Given the description of an element on the screen output the (x, y) to click on. 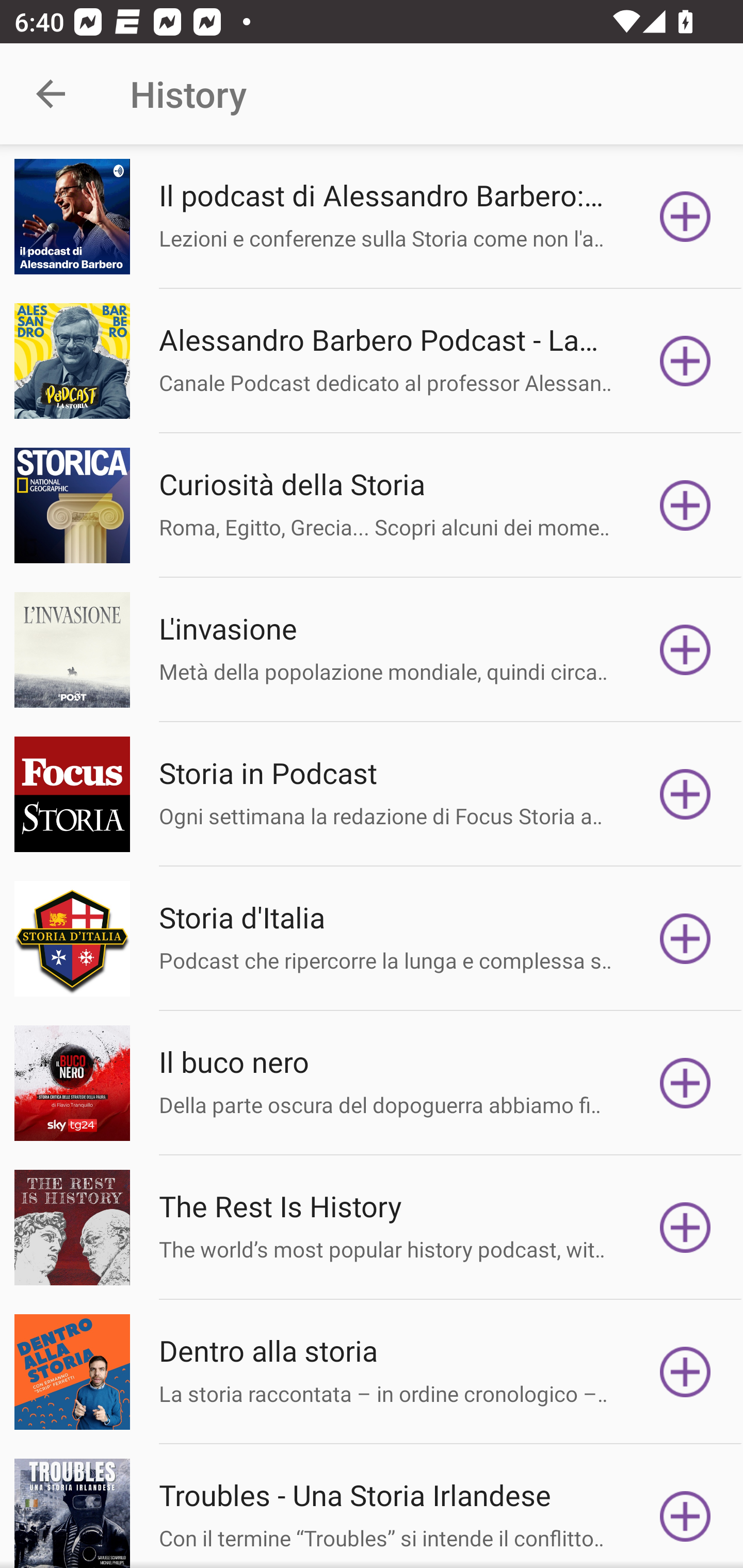
Navigate up (50, 93)
Subscribe (685, 216)
Subscribe (685, 360)
Subscribe (685, 505)
Subscribe (685, 649)
Subscribe (685, 793)
Subscribe (685, 939)
Subscribe (685, 1083)
Subscribe (685, 1227)
Subscribe (685, 1371)
Subscribe (685, 1513)
